Given the description of an element on the screen output the (x, y) to click on. 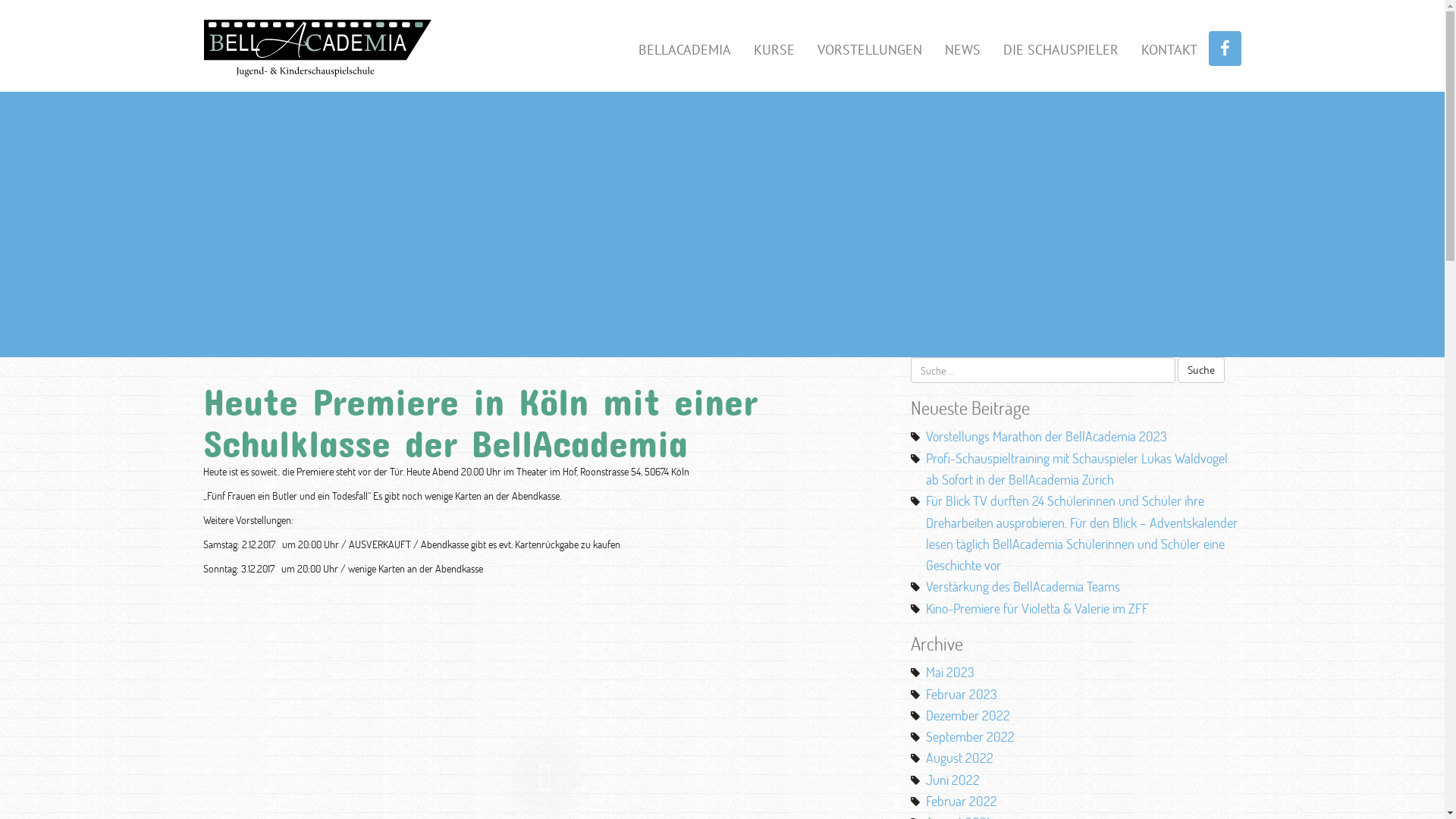
Februar 2023 Element type: text (961, 693)
KONTAKT Element type: text (1168, 49)
Dezember 2022 Element type: text (967, 714)
Vorstellungs Marathon der BellAcademia 2023 Element type: text (1046, 435)
NEWS Element type: text (961, 49)
Mai 2023 Element type: text (949, 671)
VORSTELLUNGEN Element type: text (868, 49)
September 2022 Element type: text (969, 736)
DIE SCHAUSPIELER Element type: text (1060, 49)
Februar 2022 Element type: text (961, 800)
Juni 2022 Element type: text (952, 779)
August 2022 Element type: text (959, 757)
KURSE Element type: text (773, 49)
BELLACADEMIA Element type: text (683, 49)
Suche Element type: text (1200, 369)
